Given the description of an element on the screen output the (x, y) to click on. 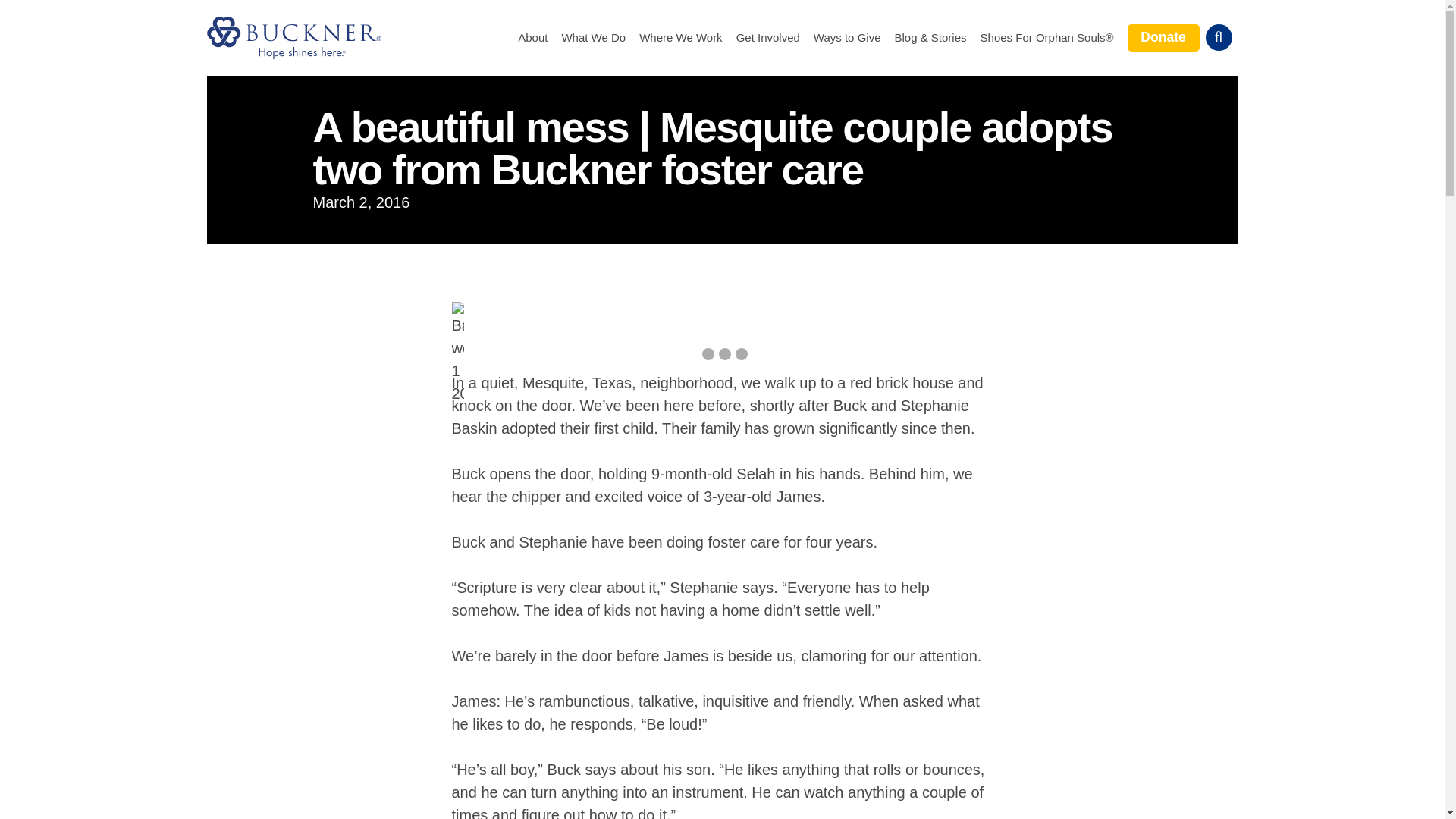
Get Involved (767, 37)
Donate (1162, 37)
Toggle Search (1218, 37)
Ways to Give (846, 37)
What We Do (593, 37)
Where We Work (680, 37)
Buckner International  (293, 37)
